Given the description of an element on the screen output the (x, y) to click on. 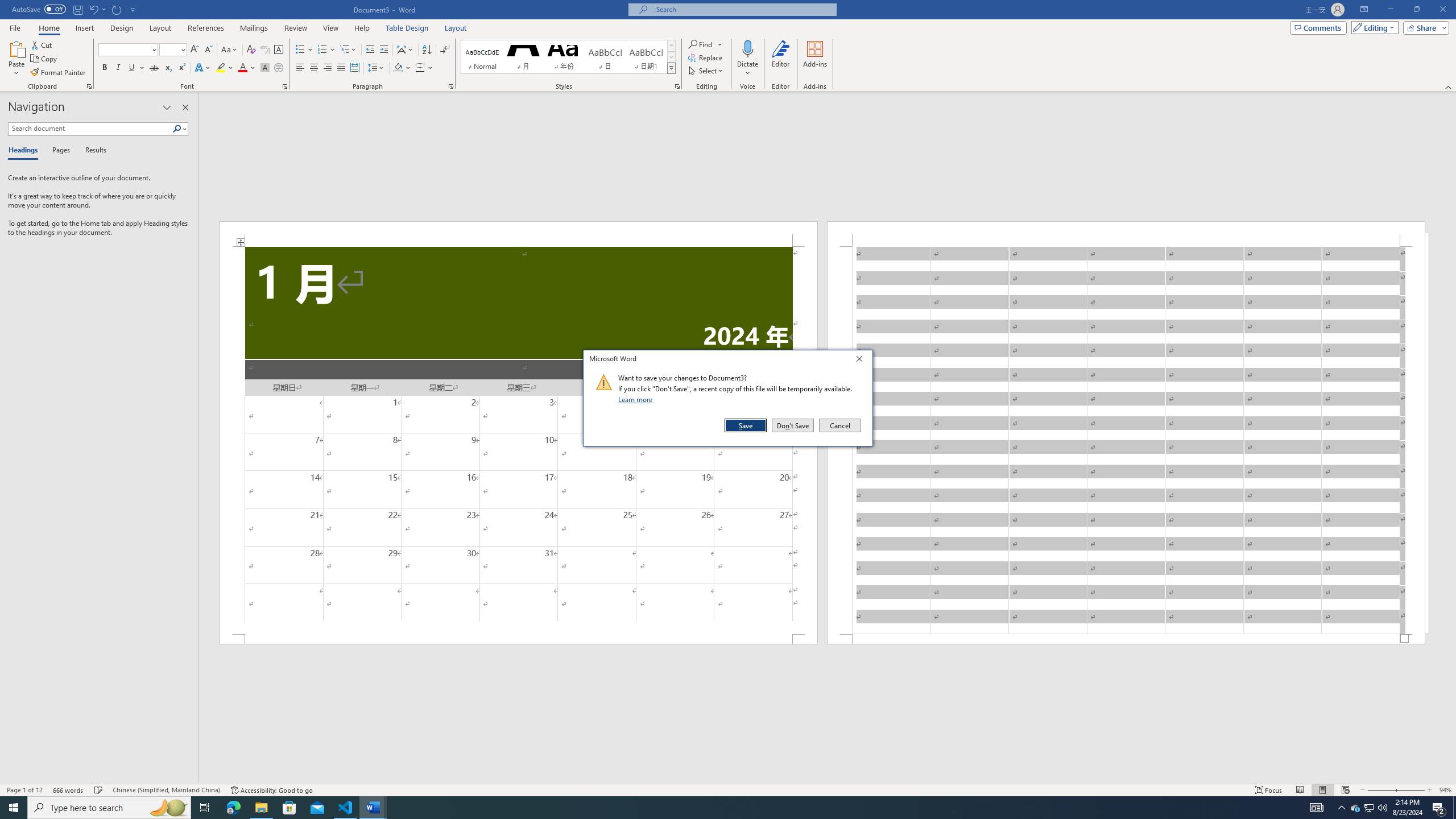
Help (361, 28)
Ribbon Display Options (1364, 9)
Paste (16, 48)
Close pane (185, 107)
References (205, 28)
Collapse the Ribbon (1448, 86)
Word - 2 running windows (373, 807)
Language Chinese (Simplified, Mainland China) (165, 790)
Zoom In (1410, 790)
Find (705, 44)
Learn more (636, 399)
Character Border (278, 49)
Running applications (717, 807)
User Promoted Notification Area (1368, 807)
System (6, 6)
